Given the description of an element on the screen output the (x, y) to click on. 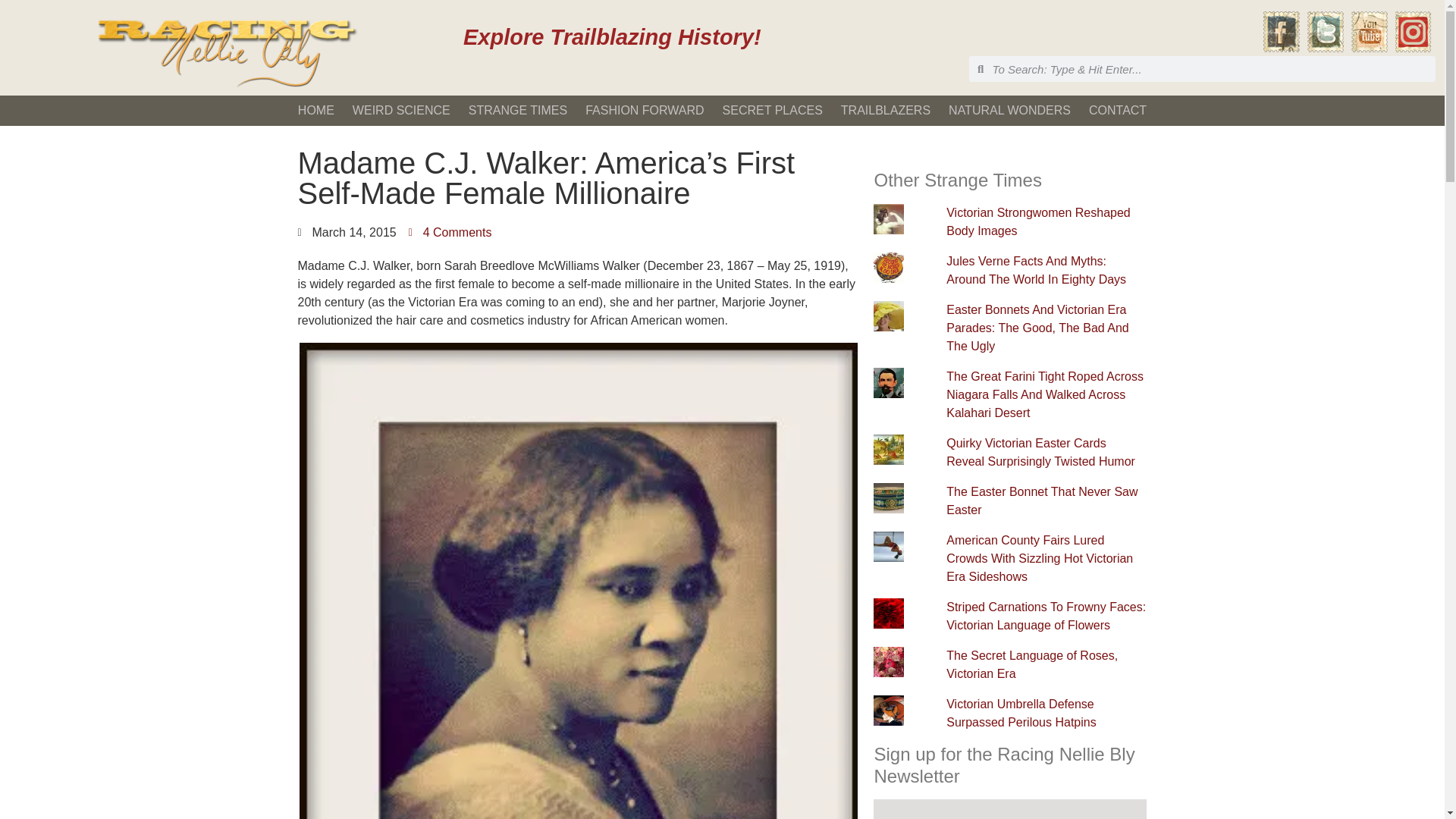
SECRET PLACES (772, 110)
social1 (1281, 31)
TRAILBLAZERS (885, 110)
social4 copy (1412, 31)
HOME (315, 110)
Jules Verne Facts And Myths: Around The World In Eighty Days (1035, 269)
NATURAL WONDERS (1009, 110)
WEIRD SCIENCE (401, 110)
